Given the description of an element on the screen output the (x, y) to click on. 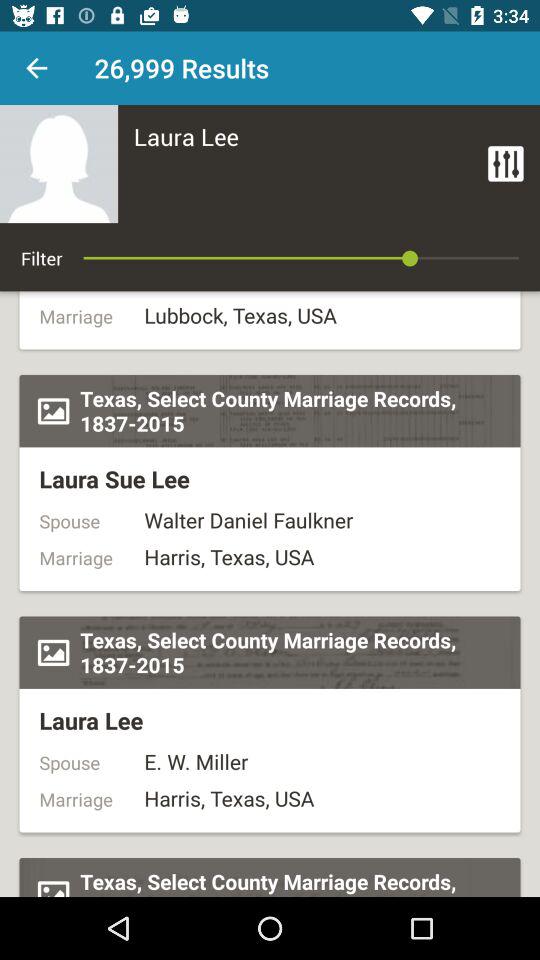
filter or sort (505, 163)
